Given the description of an element on the screen output the (x, y) to click on. 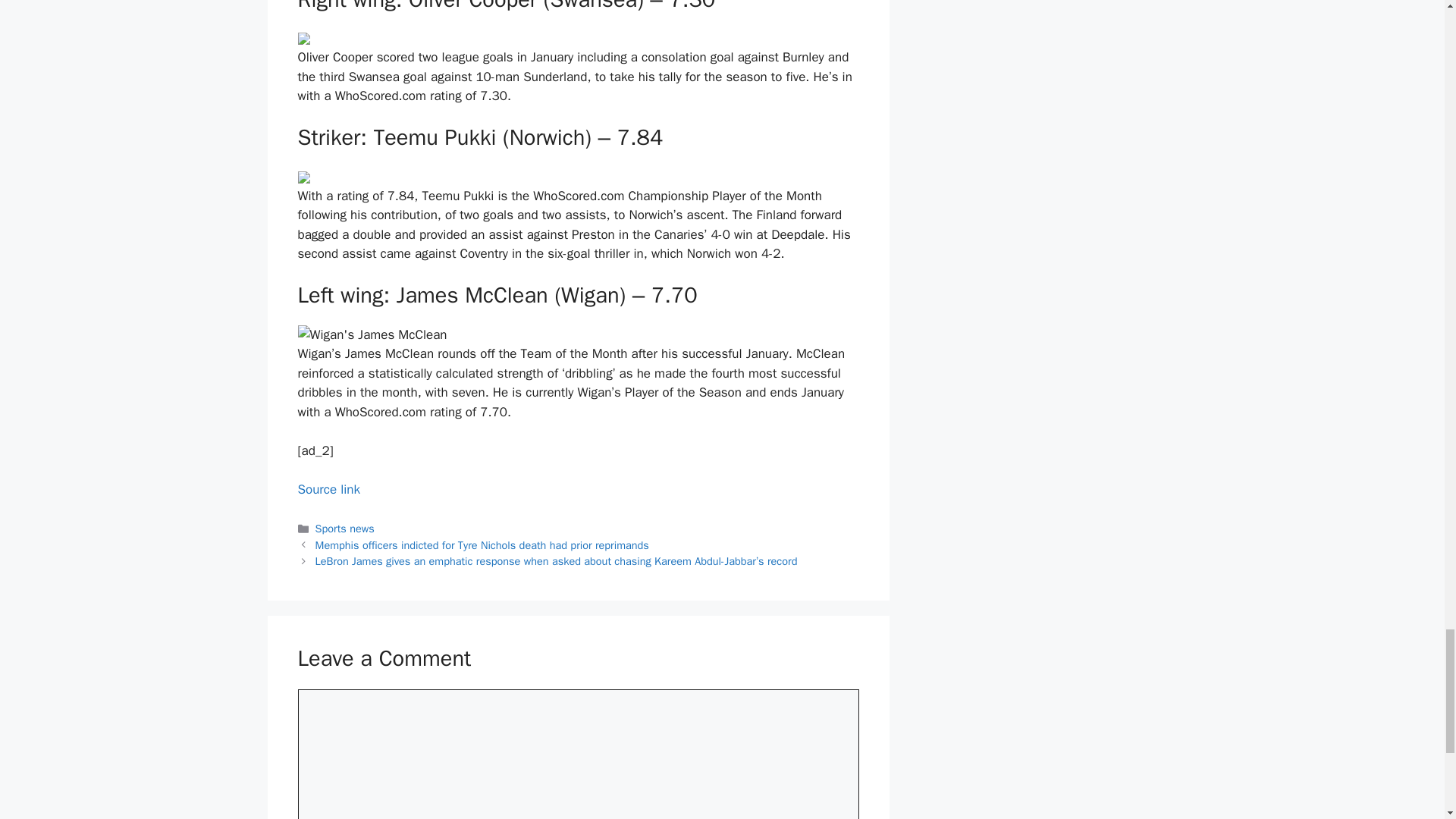
Sports news (344, 528)
Source link (328, 489)
